Given the description of an element on the screen output the (x, y) to click on. 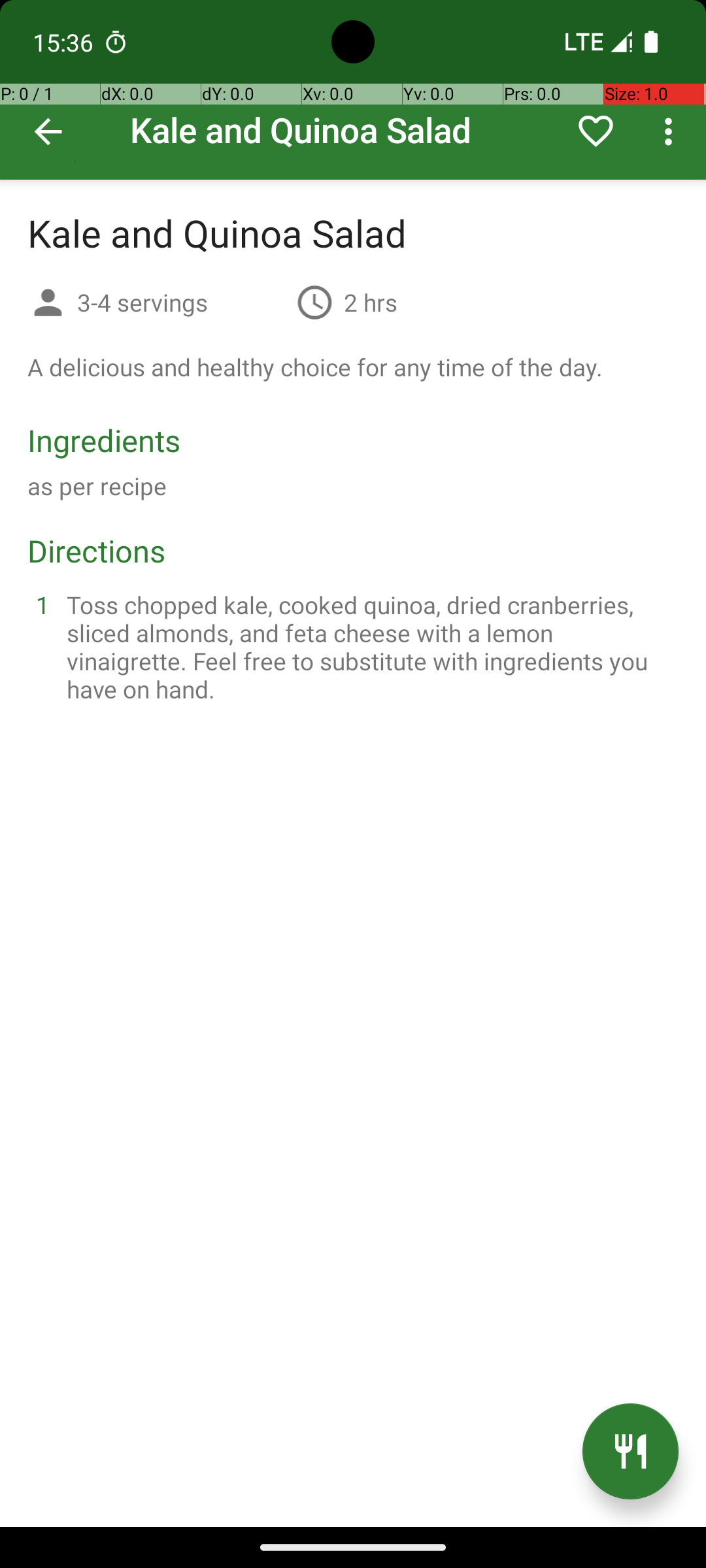
as per recipe Element type: android.widget.TextView (96, 485)
Toss chopped kale, cooked quinoa, dried cranberries, sliced almonds, and feta cheese with a lemon vinaigrette. Feel free to substitute with ingredients you have on hand. Element type: android.widget.TextView (368, 646)
